Given the description of an element on the screen output the (x, y) to click on. 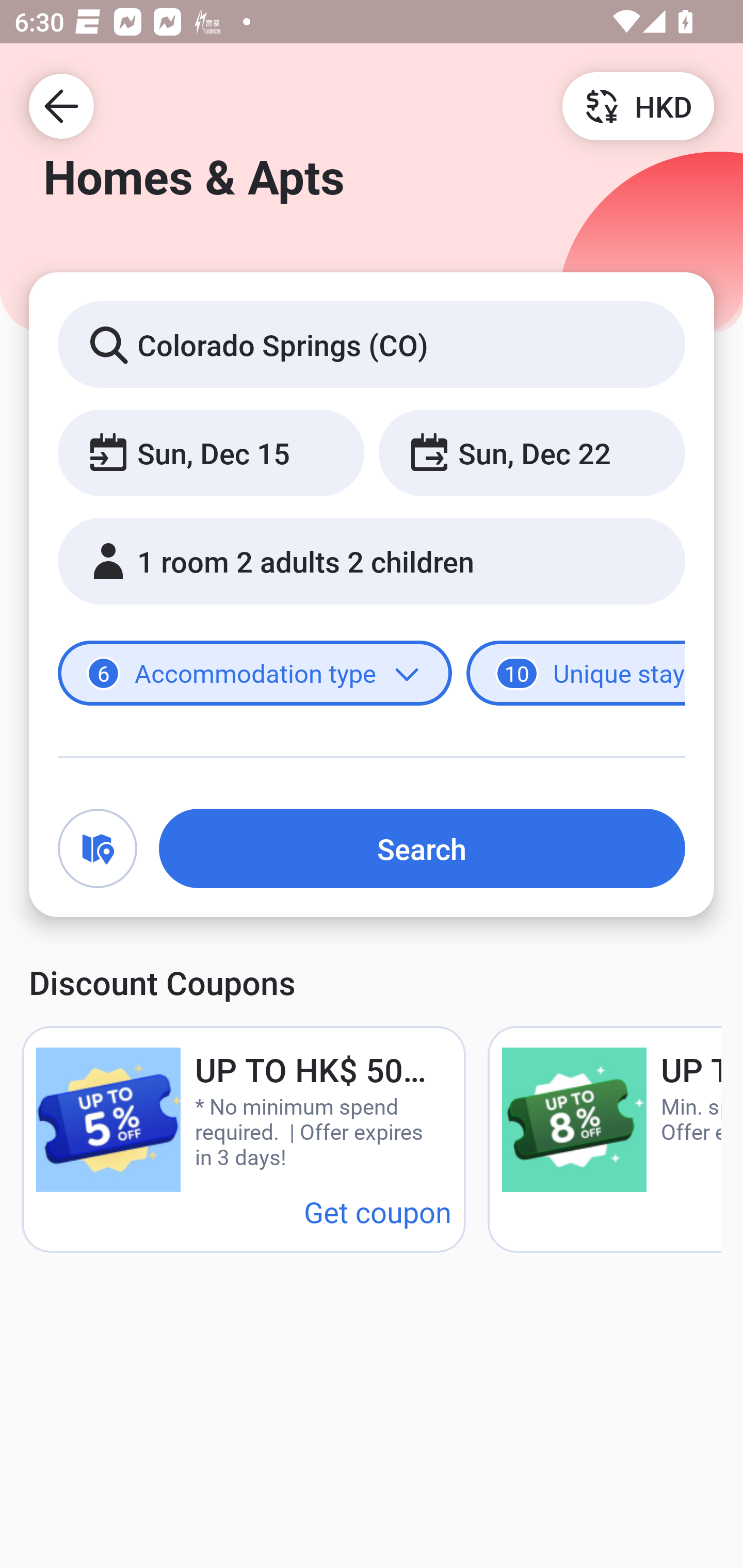
HKD (638, 105)
Colorado Springs (CO) (371, 344)
Sun, Dec 15 (210, 452)
Sun, Dec 22 (531, 452)
1 room 2 adults 2 children (371, 561)
6 Accommodation type (254, 673)
10 Unique stays (575, 673)
Search (422, 848)
Get coupon (377, 1211)
